Given the description of an element on the screen output the (x, y) to click on. 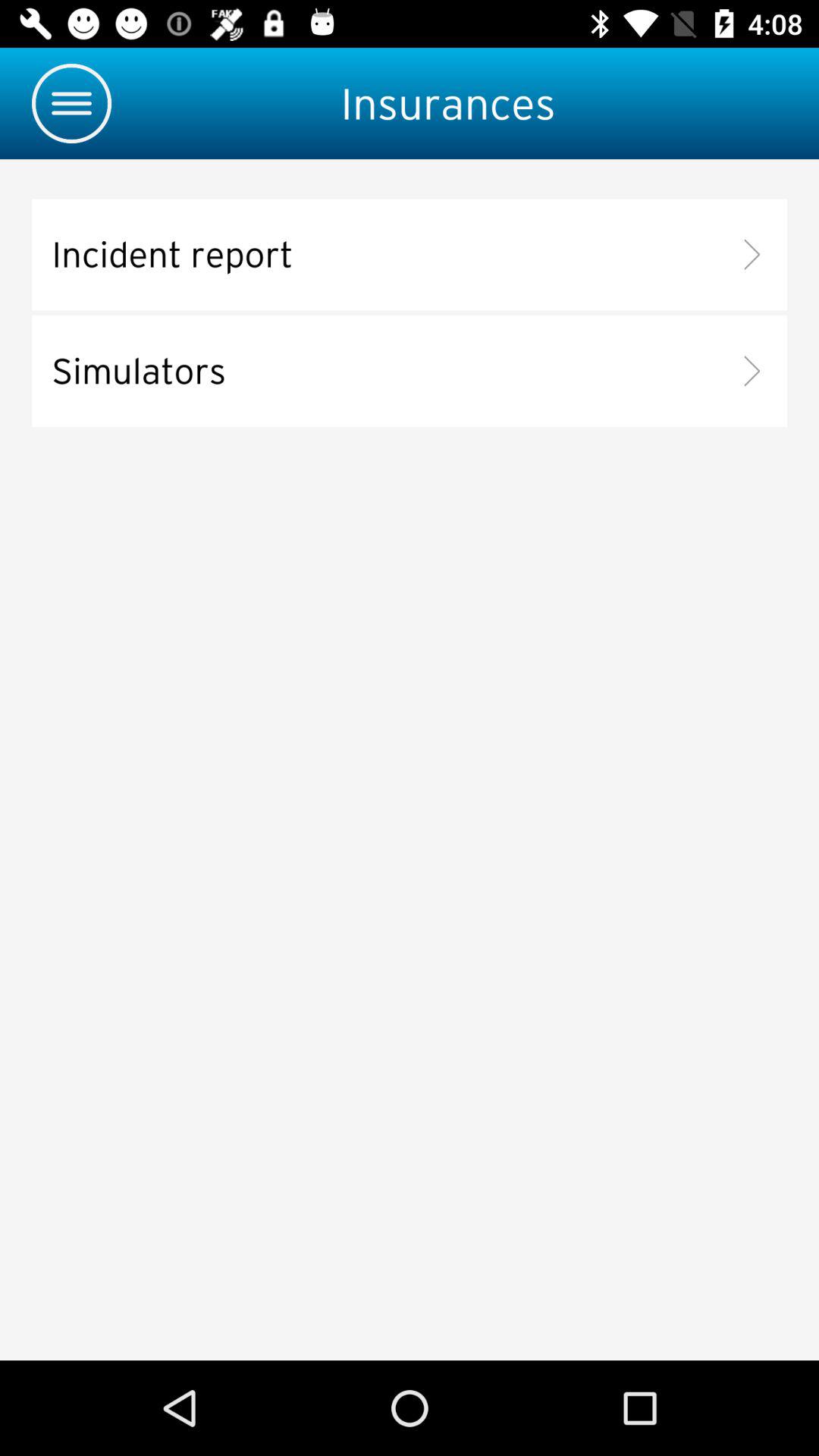
go to incident report (409, 254)
